Given the description of an element on the screen output the (x, y) to click on. 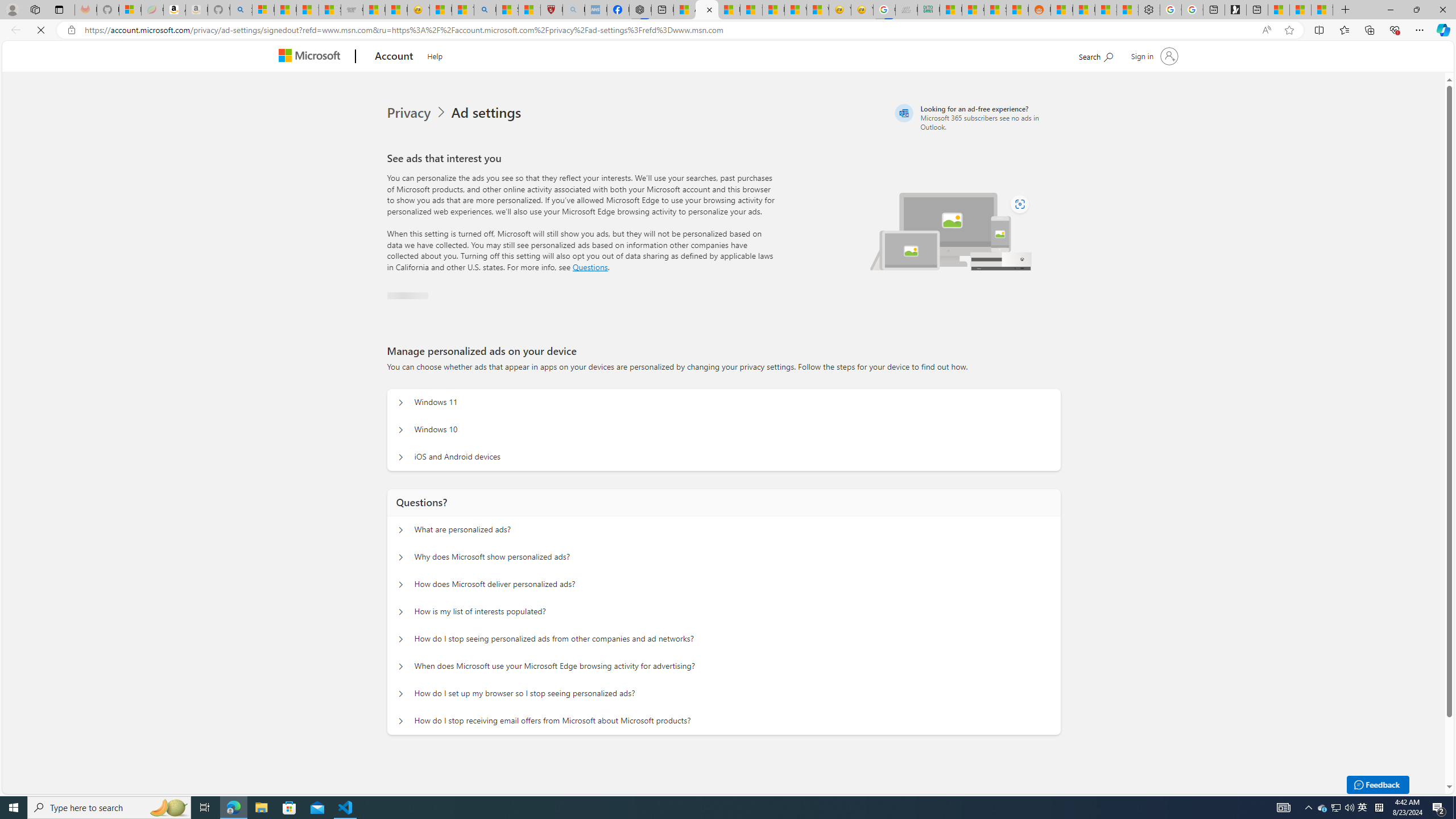
Fitness - MSN (773, 9)
R******* | Trusted Community Engagement and Contributions (1061, 9)
Microsoft (311, 56)
